Given the description of an element on the screen output the (x, y) to click on. 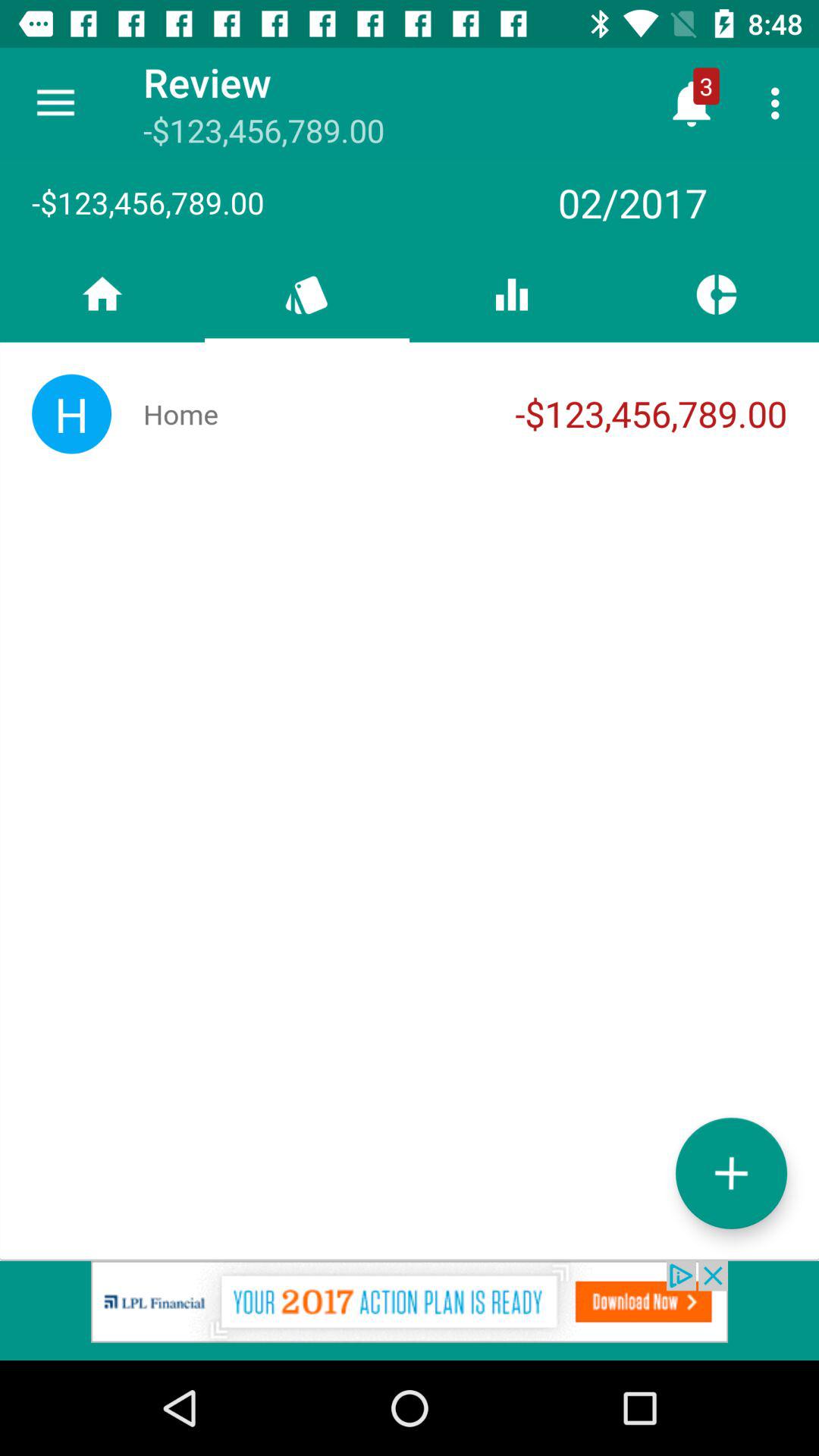
open advertisement (409, 1310)
